Given the description of an element on the screen output the (x, y) to click on. 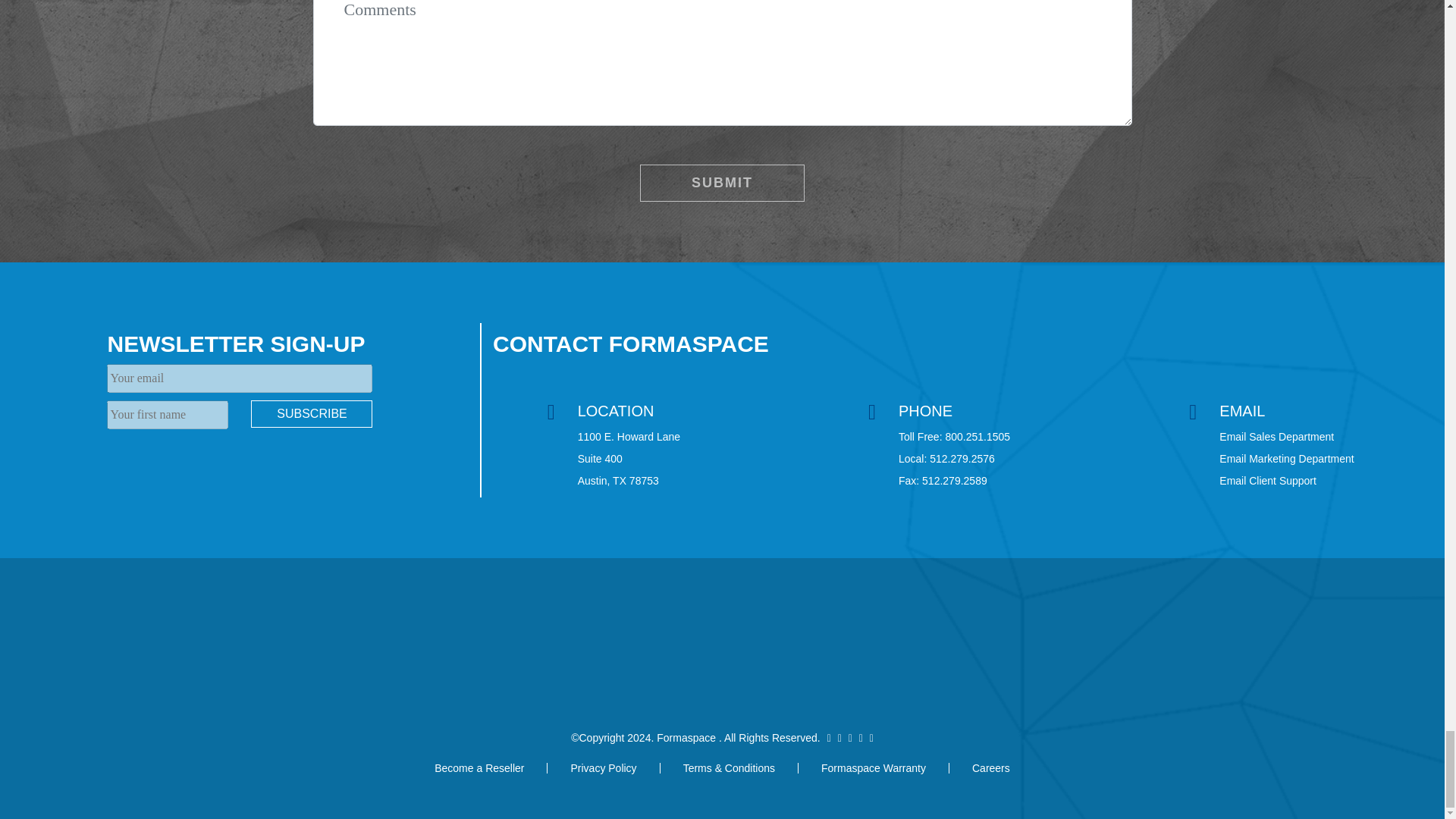
Subscribe (311, 413)
